Given the description of an element on the screen output the (x, y) to click on. 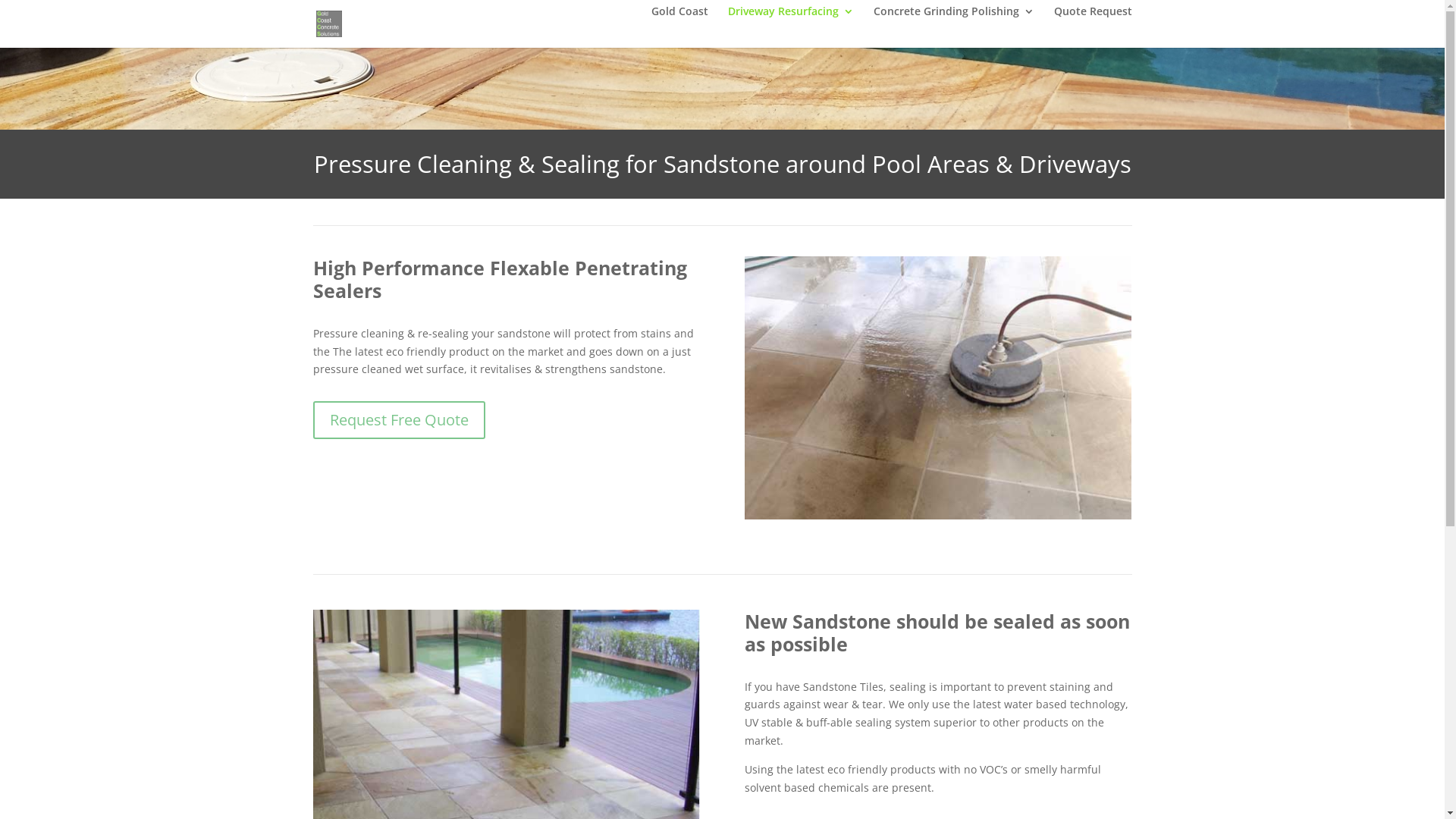
Concrete Grinding Polishing Element type: text (953, 23)
Gold Coast Element type: text (678, 23)
Driveway Resurfacing Element type: text (790, 23)
Quote Request Element type: text (1093, 23)
Request Free Quote Element type: text (398, 420)
